Given the description of an element on the screen output the (x, y) to click on. 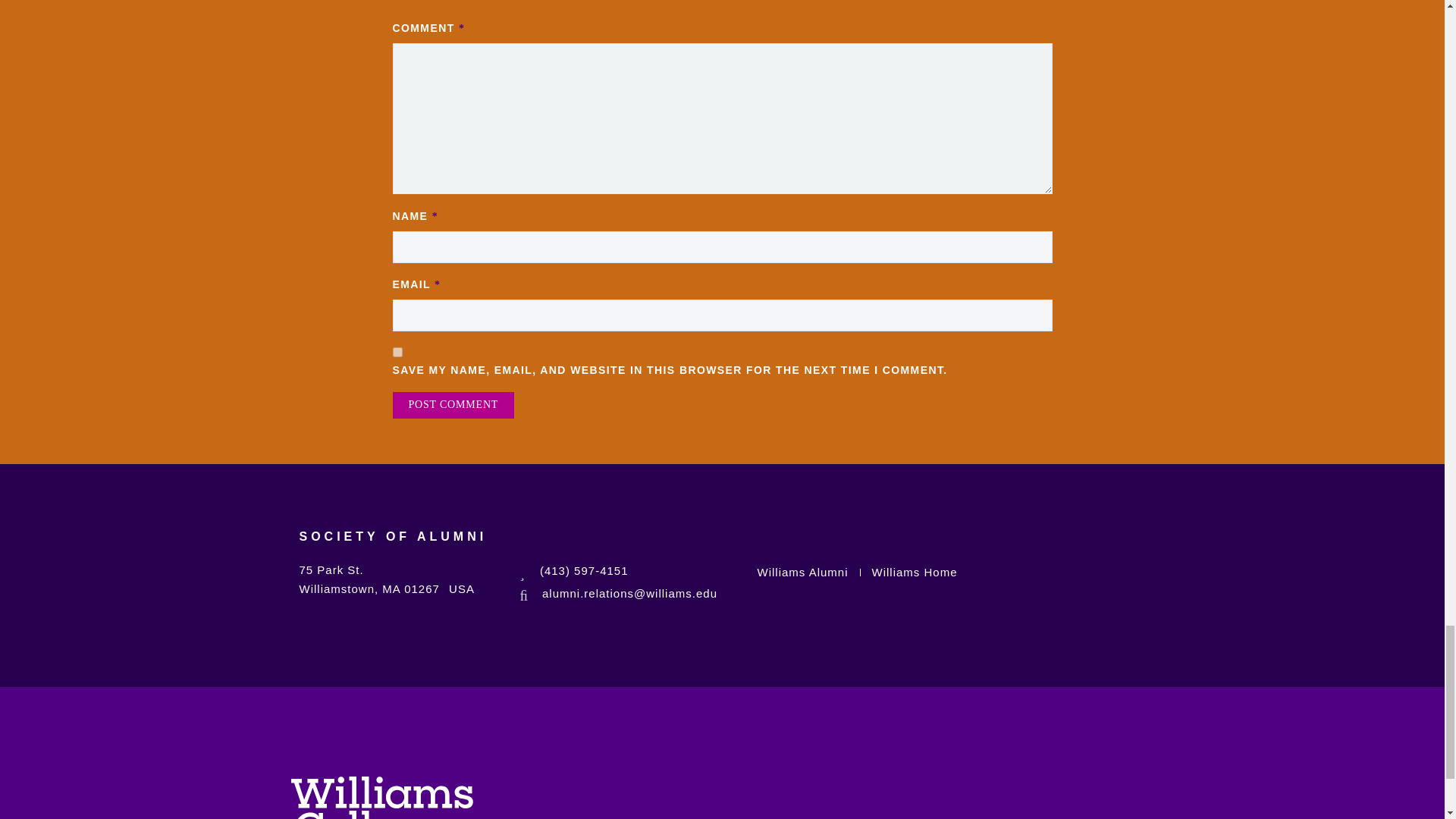
yes (398, 352)
Post Comment (454, 405)
Williams College (382, 797)
Post Comment (454, 405)
SOCIETY OF ALUMNI (392, 546)
Go to Williams College (382, 794)
Go to Society of Alumni (392, 546)
